Given the description of an element on the screen output the (x, y) to click on. 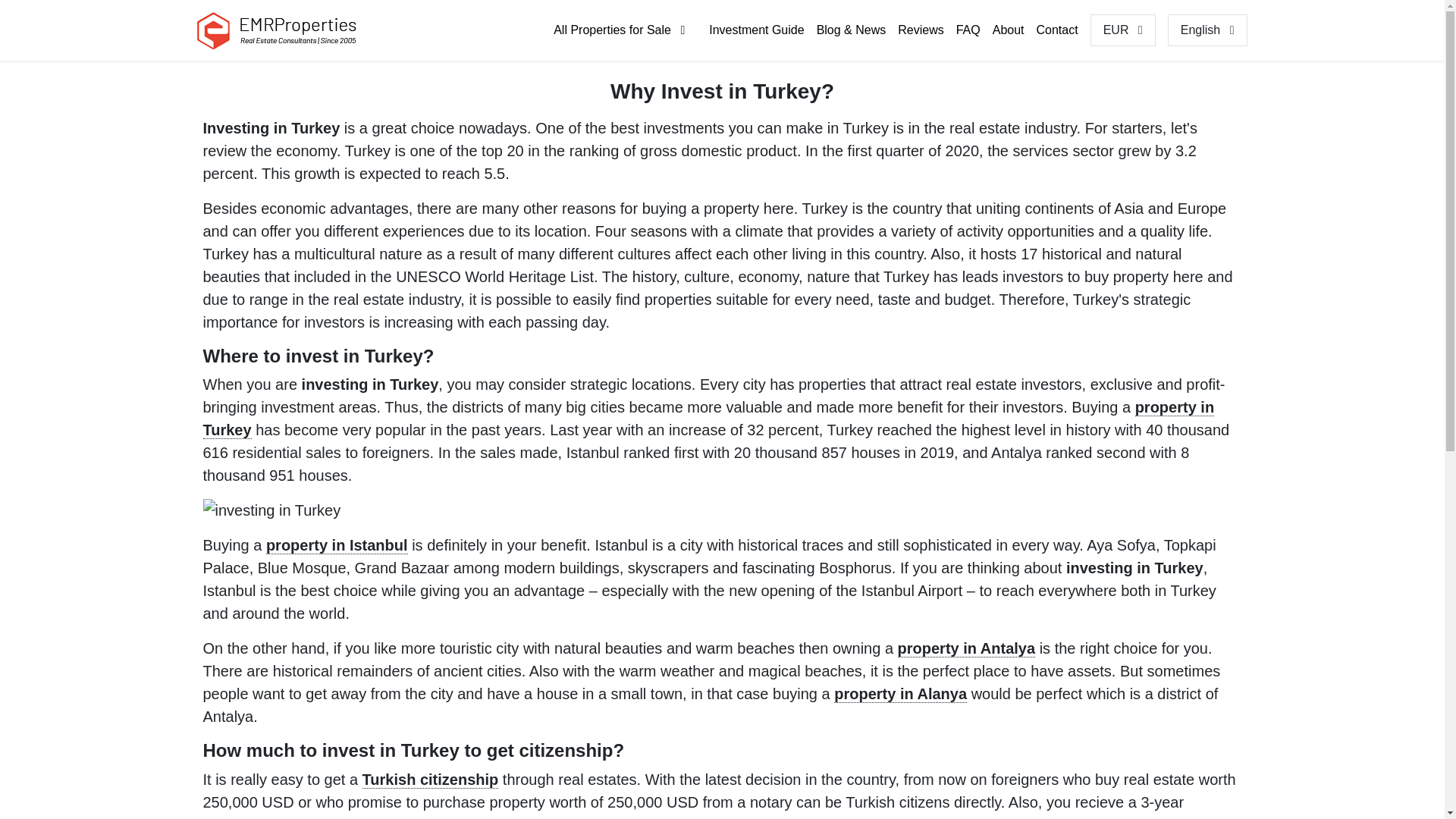
FAQ (967, 29)
property in Alanya (900, 693)
Investment Guide (756, 29)
property in Istanbul (336, 545)
EMR Properties (285, 29)
Reviews (920, 29)
Property in Turkey (708, 418)
Reviews (920, 29)
Property in Antalya (966, 648)
property in Antalya (966, 648)
All Properties for Sale (619, 30)
Contact (1057, 29)
All Properties for Sale (619, 30)
property in Turkey (708, 418)
About (1008, 29)
